Given the description of an element on the screen output the (x, y) to click on. 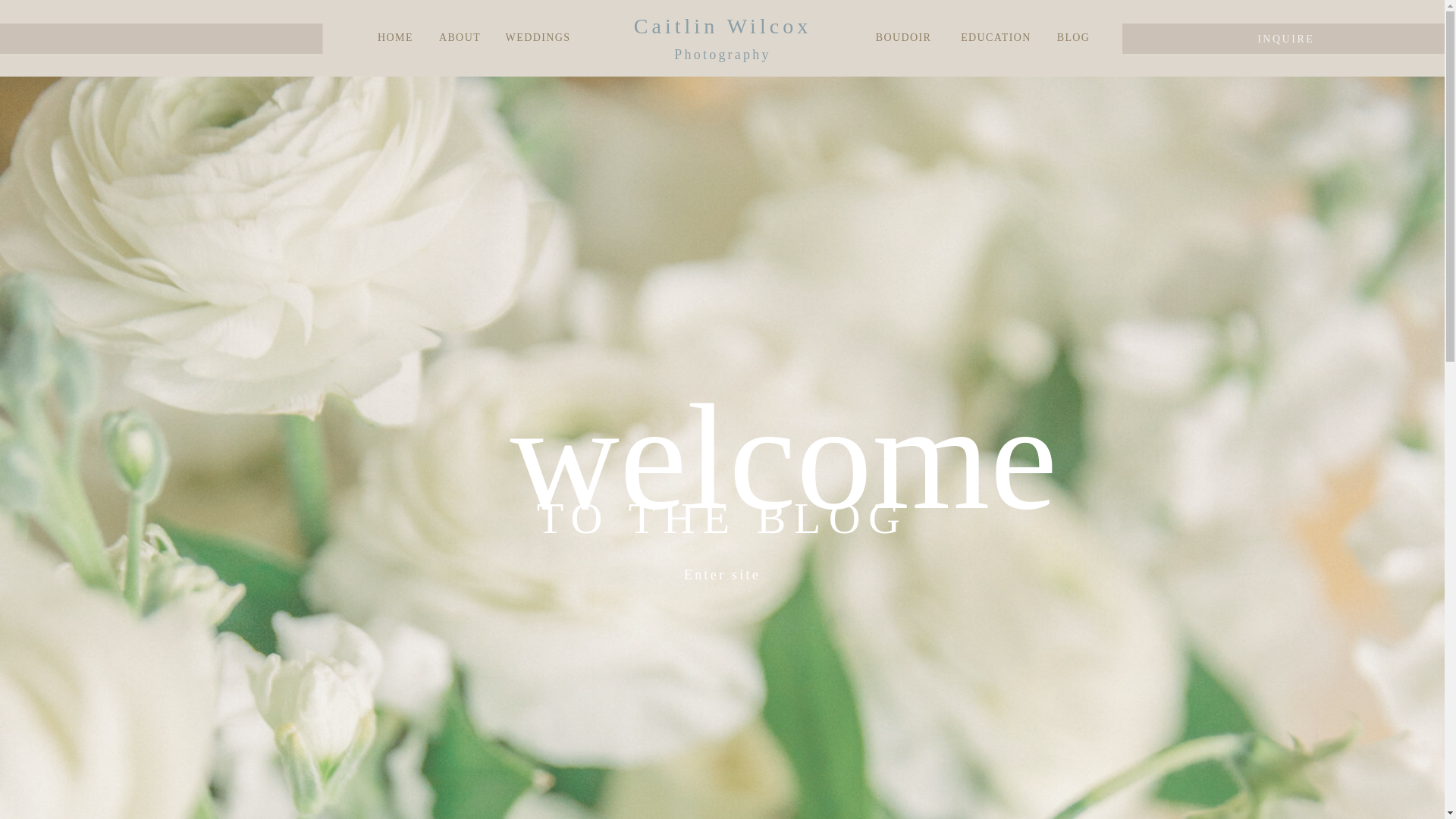
Photography (722, 54)
Enter site (722, 584)
BOUDOIR (903, 37)
HOME (395, 37)
BLOG (1073, 37)
EDUCATION (995, 37)
WEDDINGS (537, 37)
Caitlin Wilcox (722, 27)
ABOUT (458, 37)
